Given the description of an element on the screen output the (x, y) to click on. 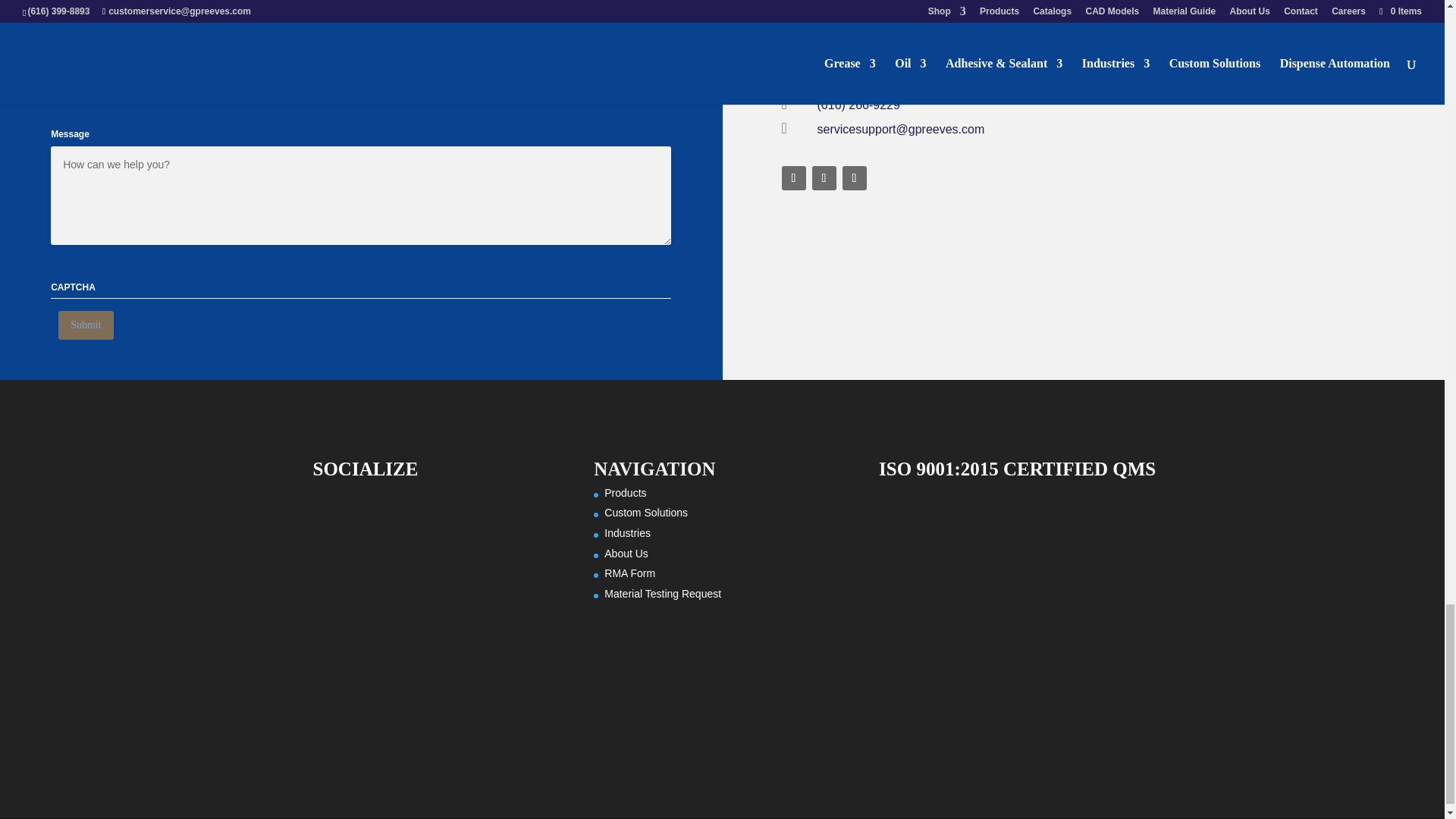
Follow on Facebook (792, 178)
Follow on LinkedIn (822, 178)
Follow on Youtube (853, 178)
Submit (85, 325)
